Given the description of an element on the screen output the (x, y) to click on. 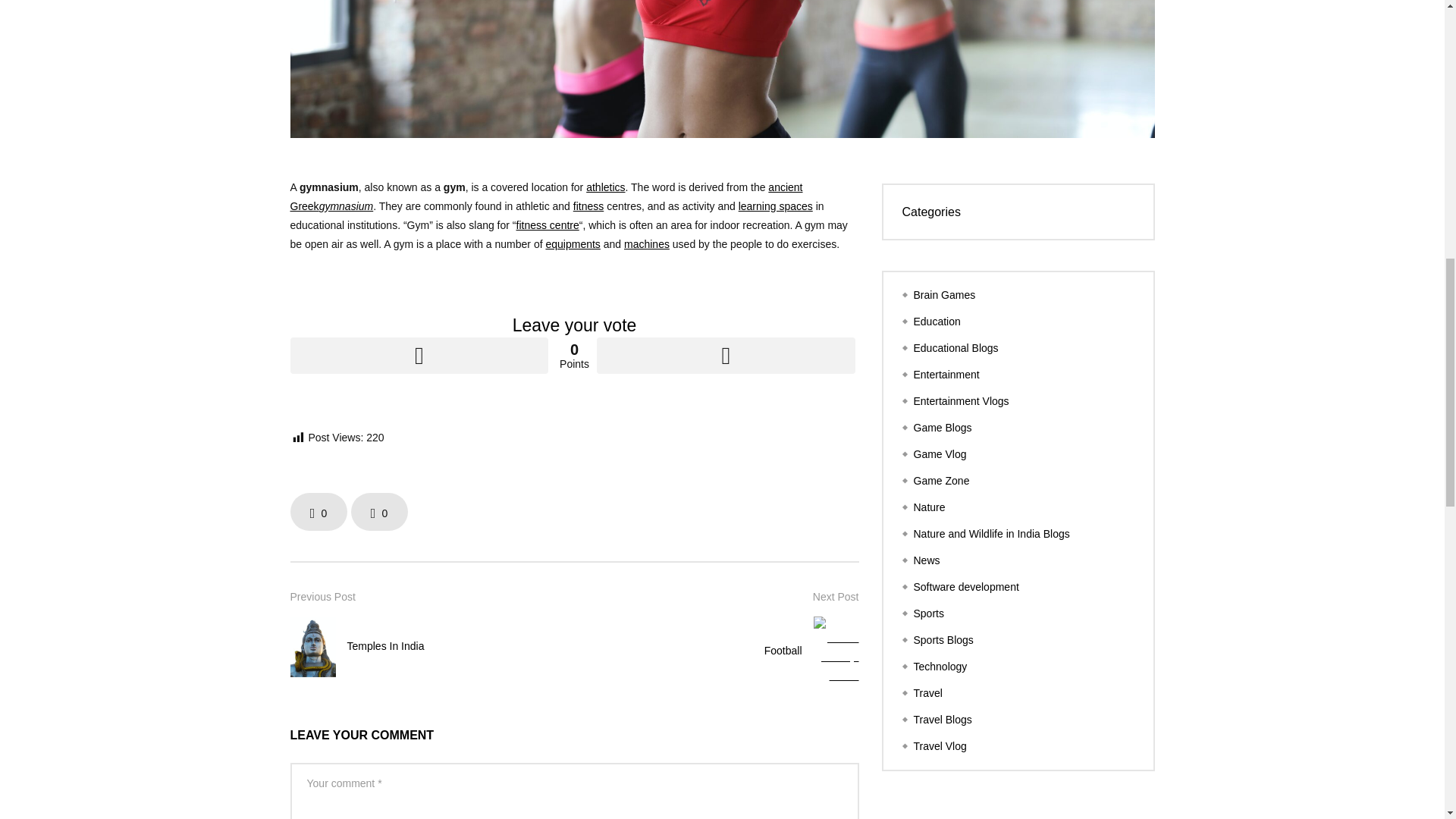
athletics (605, 186)
